Given the description of an element on the screen output the (x, y) to click on. 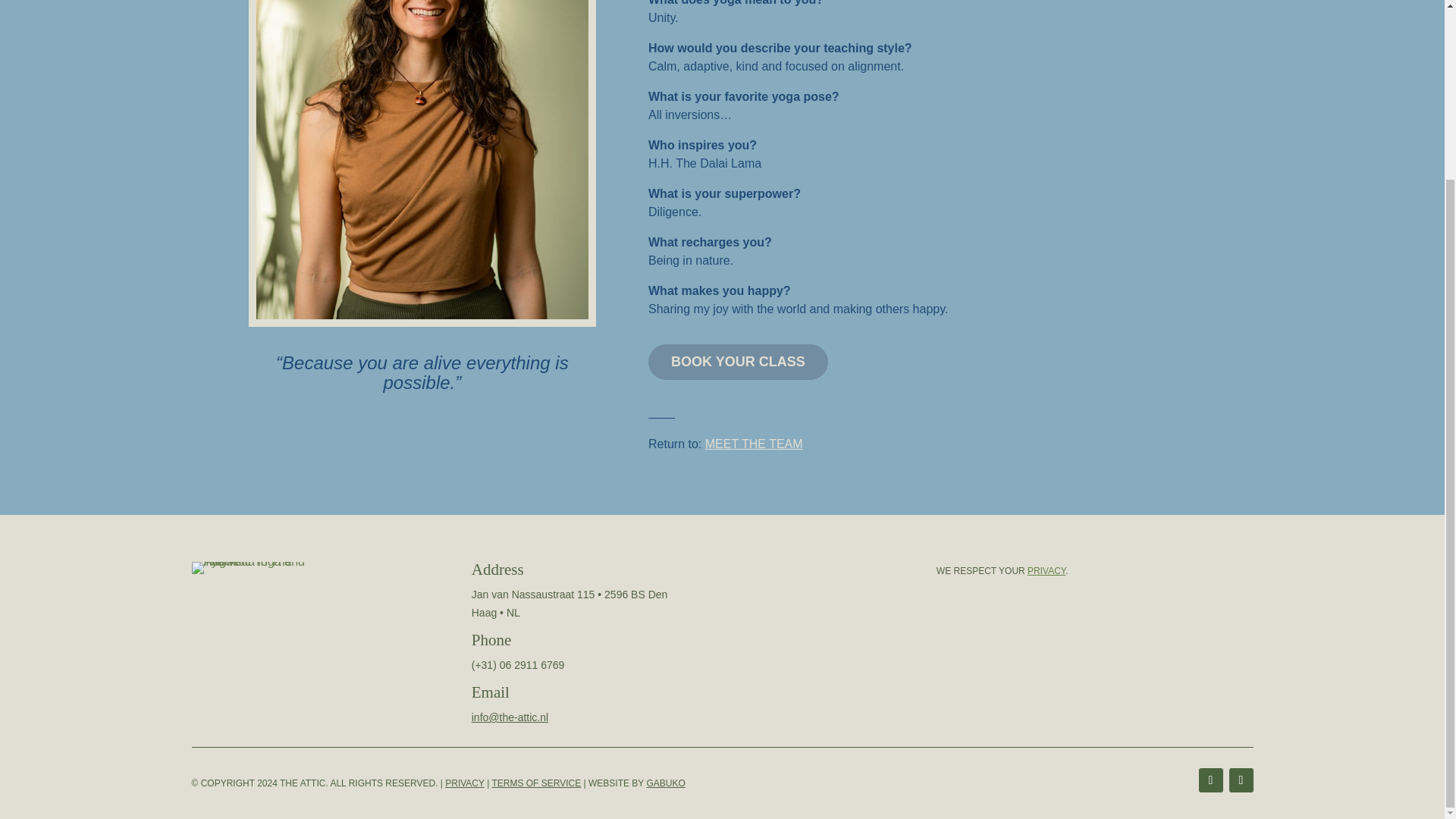
Follow on Instagram (1240, 780)
Follow on Facebook (1210, 780)
